Given the description of an element on the screen output the (x, y) to click on. 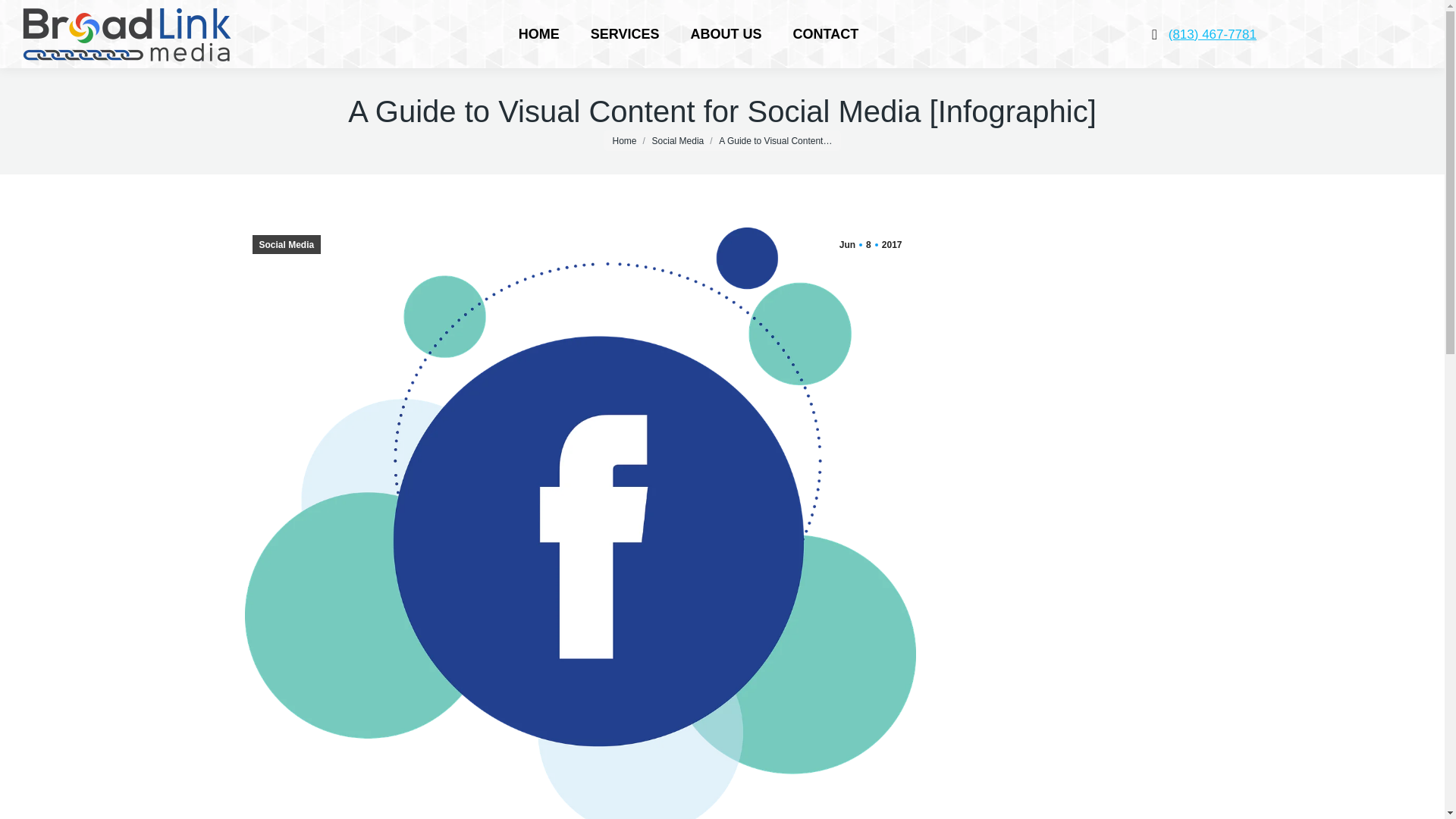
SERVICES (625, 33)
7:43 pm (870, 244)
Social Media (678, 140)
Social Media (678, 140)
Social Media (285, 244)
HOME (539, 33)
Home (624, 140)
Home (624, 140)
CONTACT (870, 244)
ABOUT US (825, 33)
